Given the description of an element on the screen output the (x, y) to click on. 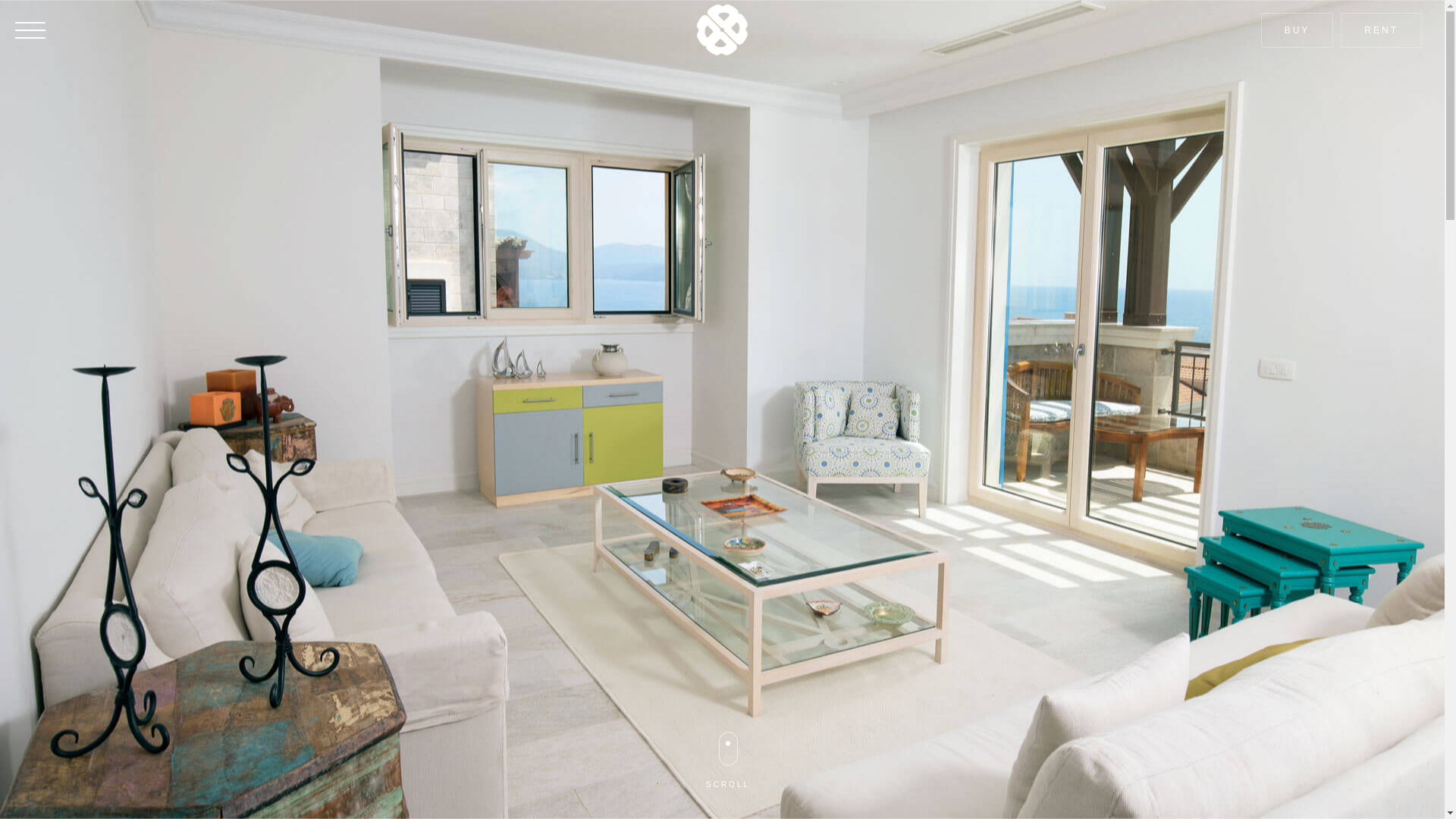
BUY Element type: text (1297, 29)
RENT Element type: text (1380, 29)
